Given the description of an element on the screen output the (x, y) to click on. 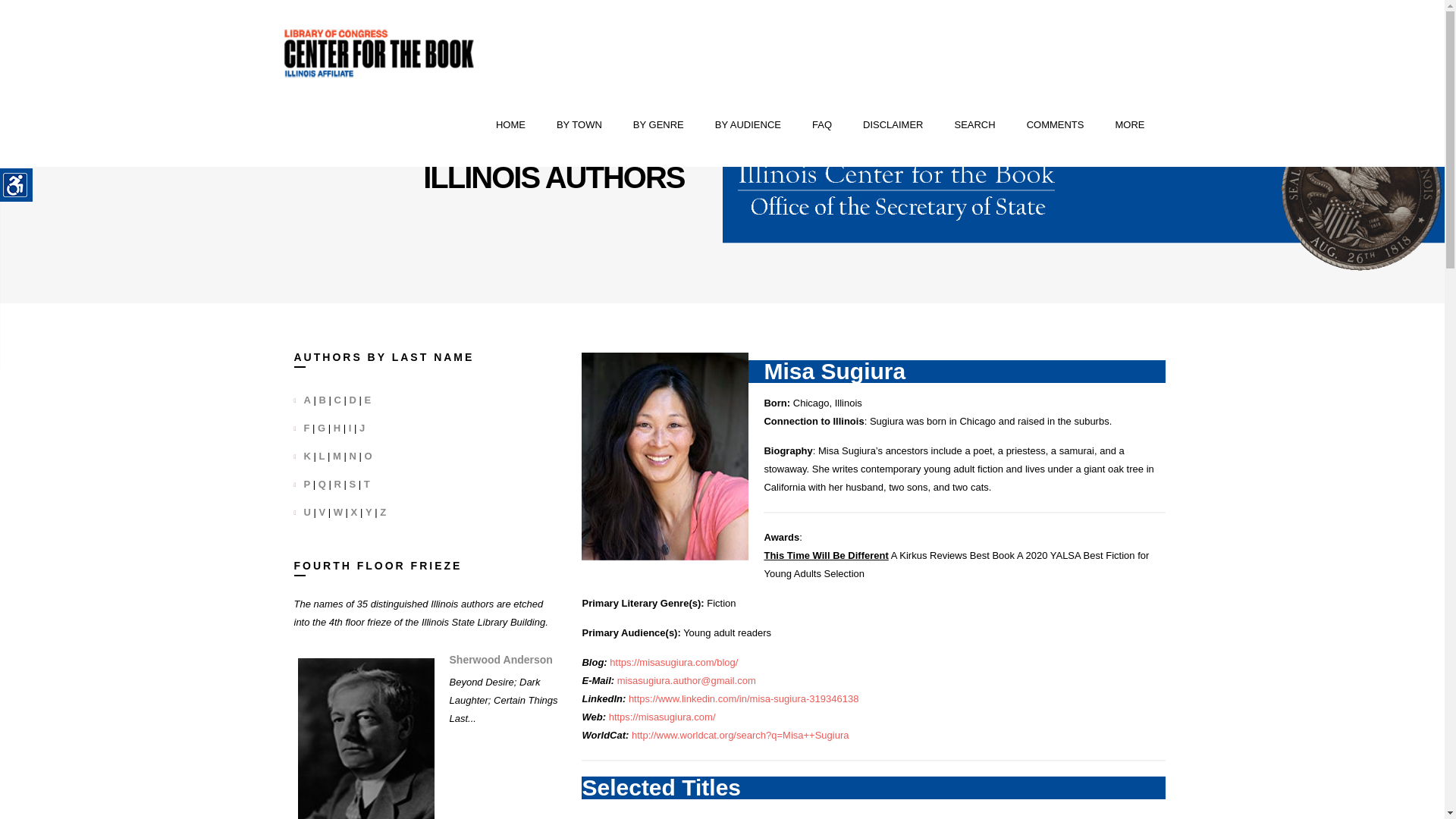
DISCLAIMER (893, 125)
H (336, 428)
C (336, 399)
Illinois authors, arranged by city (579, 125)
Illinois authors, arranged by broad genres (658, 125)
A (306, 399)
I (350, 428)
G (320, 428)
The home page of the Illinois Authors Directory (510, 125)
BY TOWN (579, 125)
B (321, 399)
FAQ (821, 125)
Frequently asked questions and information (821, 125)
Illinois authors, arranged by audience (747, 125)
SEARCH (973, 125)
